Given the description of an element on the screen output the (x, y) to click on. 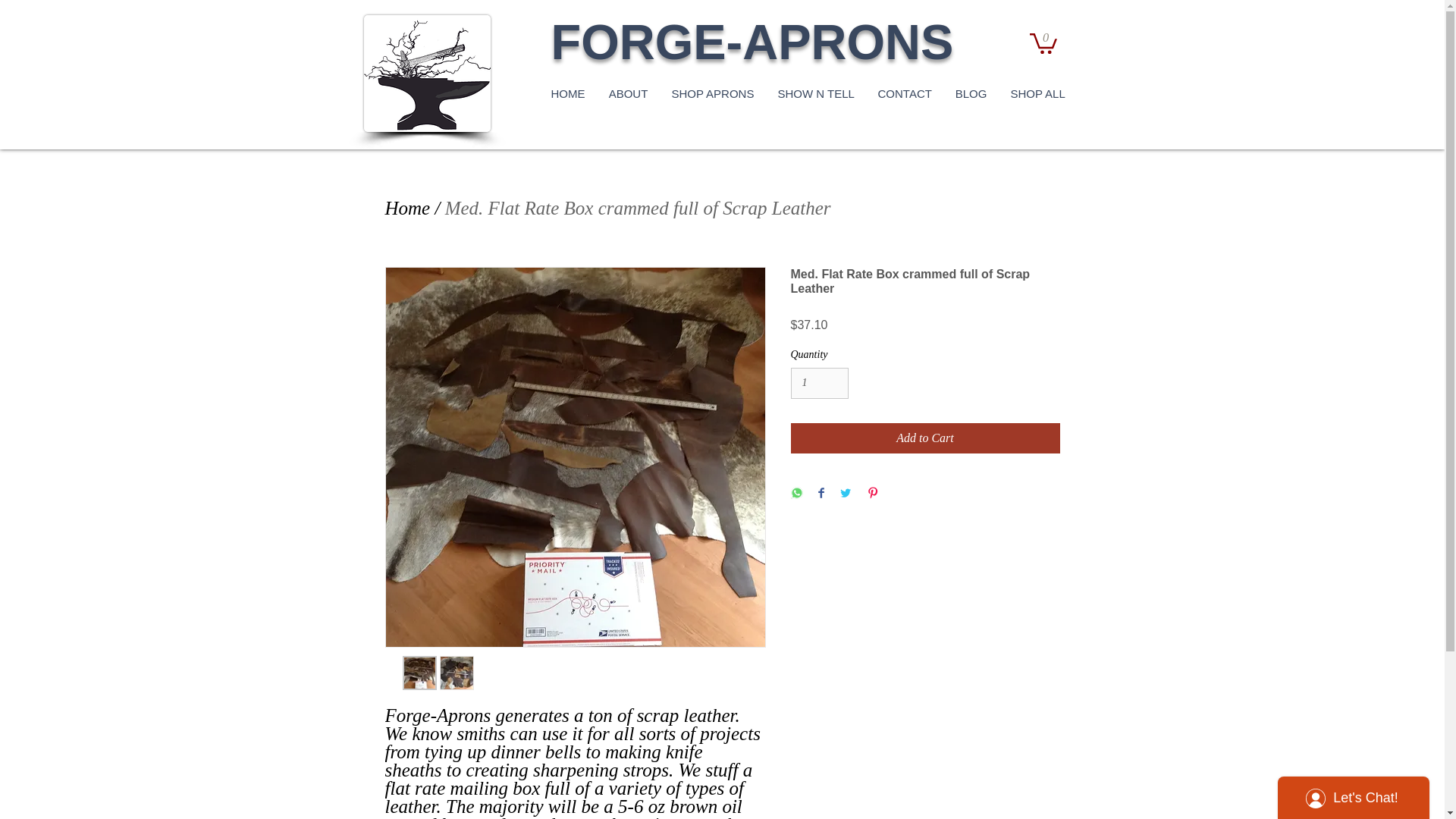
HOME (566, 93)
Med. Flat Rate Box crammed full of Scrap Leather (638, 208)
BLOG (970, 93)
SHOP APRONS (712, 93)
ABOUT (627, 93)
1 (818, 382)
0 (1043, 42)
CONTACT (904, 93)
Home (407, 208)
SHOP ALL (1036, 93)
Add to Cart (924, 438)
0 (1043, 42)
SHOW N TELL (815, 93)
